Given the description of an element on the screen output the (x, y) to click on. 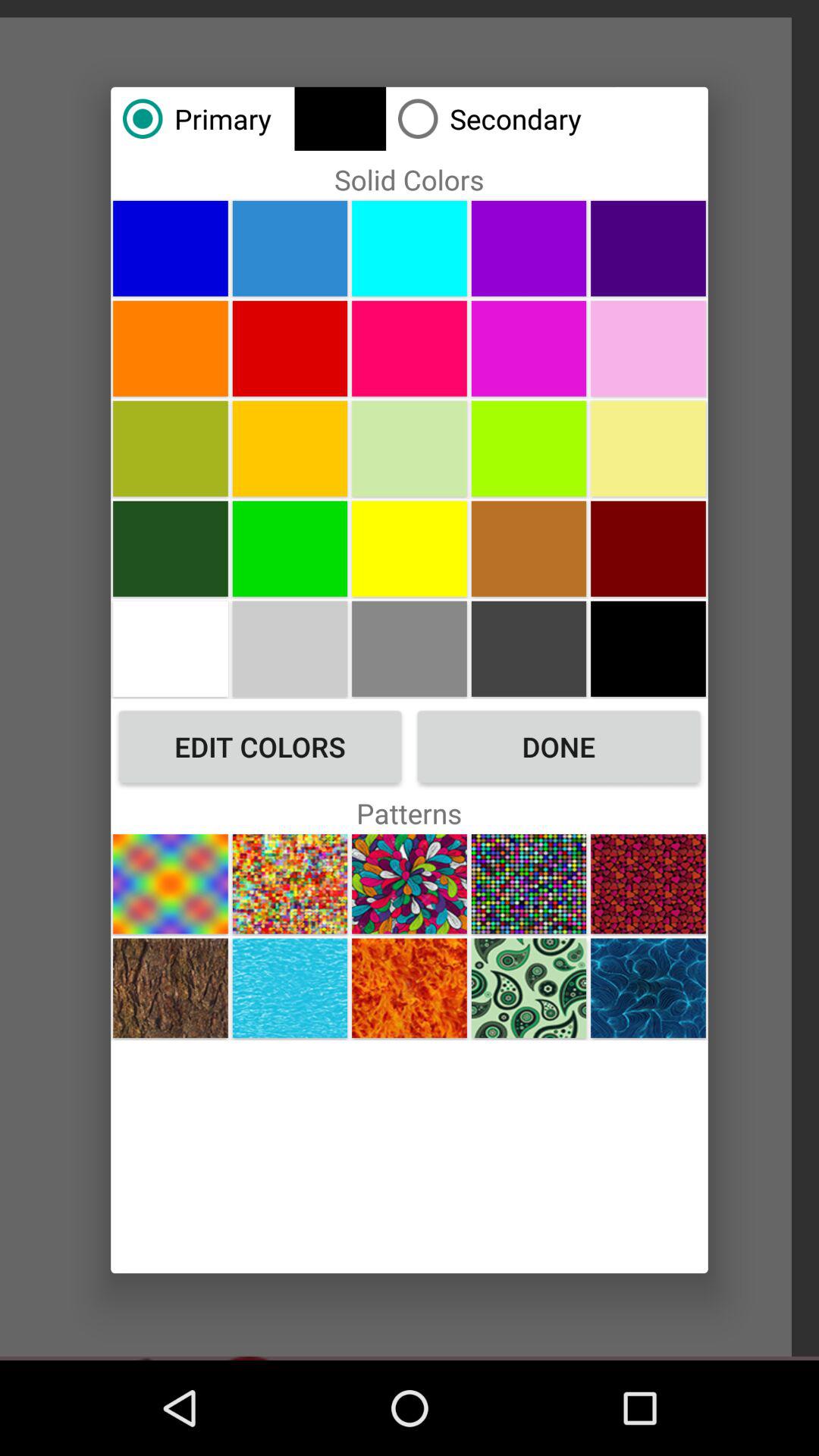
change color to dark green (170, 548)
